Given the description of an element on the screen output the (x, y) to click on. 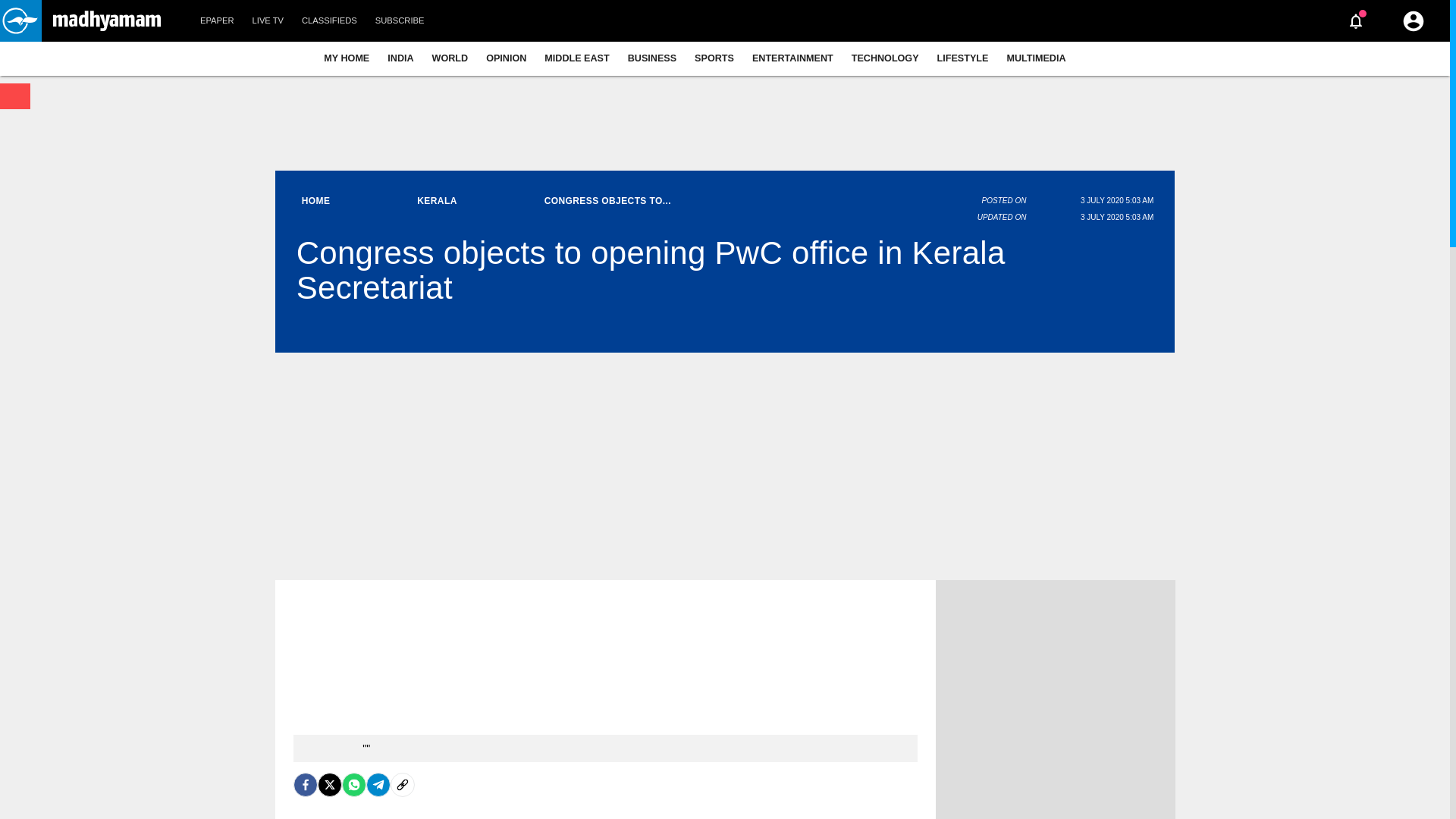
LIVE TV (267, 20)
LIFESTYLE (962, 58)
MY HOME (346, 58)
Madhyamam (106, 20)
MIDDLE EAST (576, 58)
TECHNOLOGY (885, 58)
ENTERTAINMENT (792, 58)
INDIA (400, 58)
CLASSIFIEDS (329, 20)
SUBSCRIBE (399, 20)
notify (1355, 21)
WORLD (450, 58)
OPINION (506, 58)
BUSINESS (651, 58)
EPAPER (216, 20)
